Given the description of an element on the screen output the (x, y) to click on. 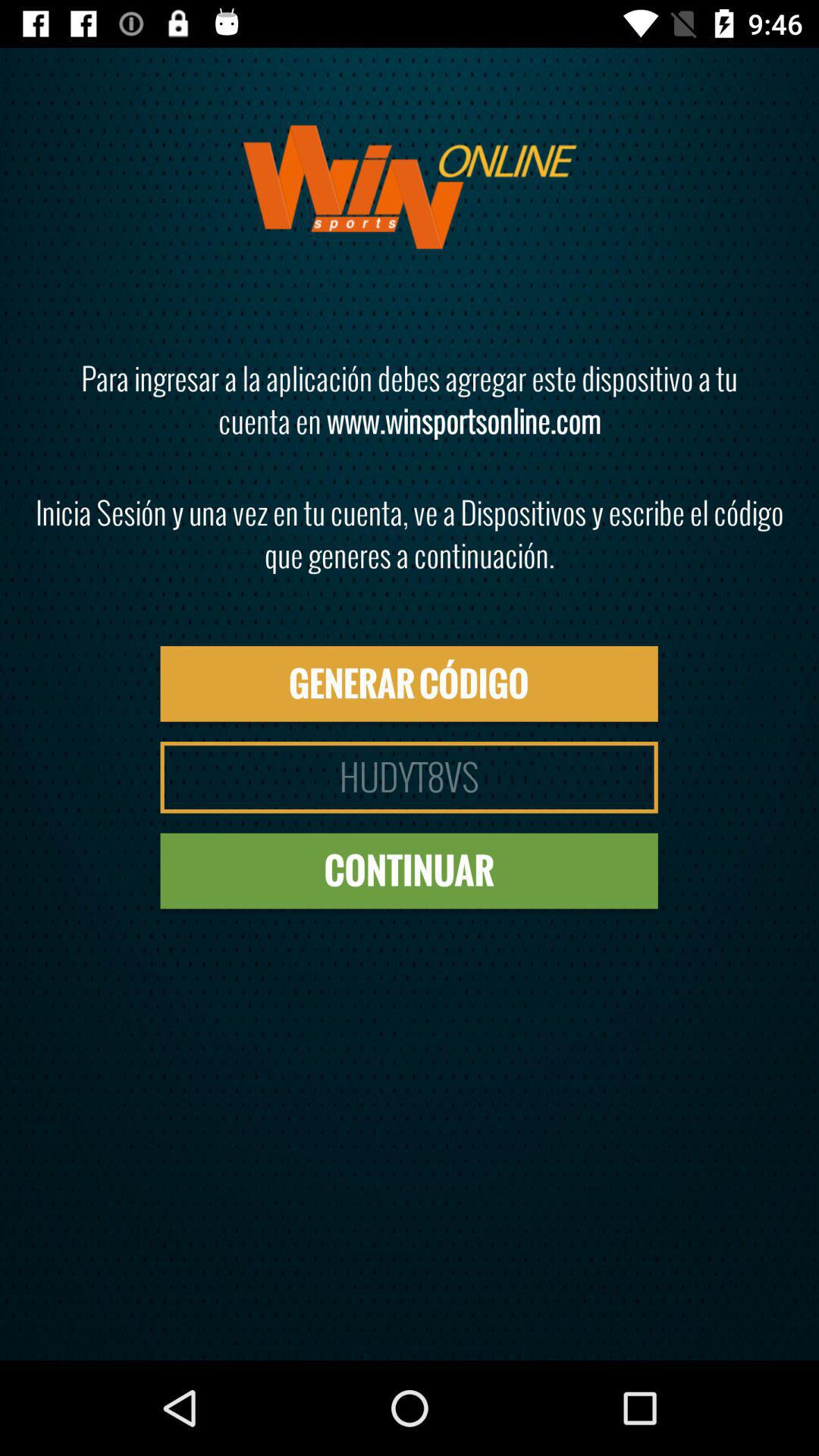
press the continuar item (409, 870)
